Given the description of an element on the screen output the (x, y) to click on. 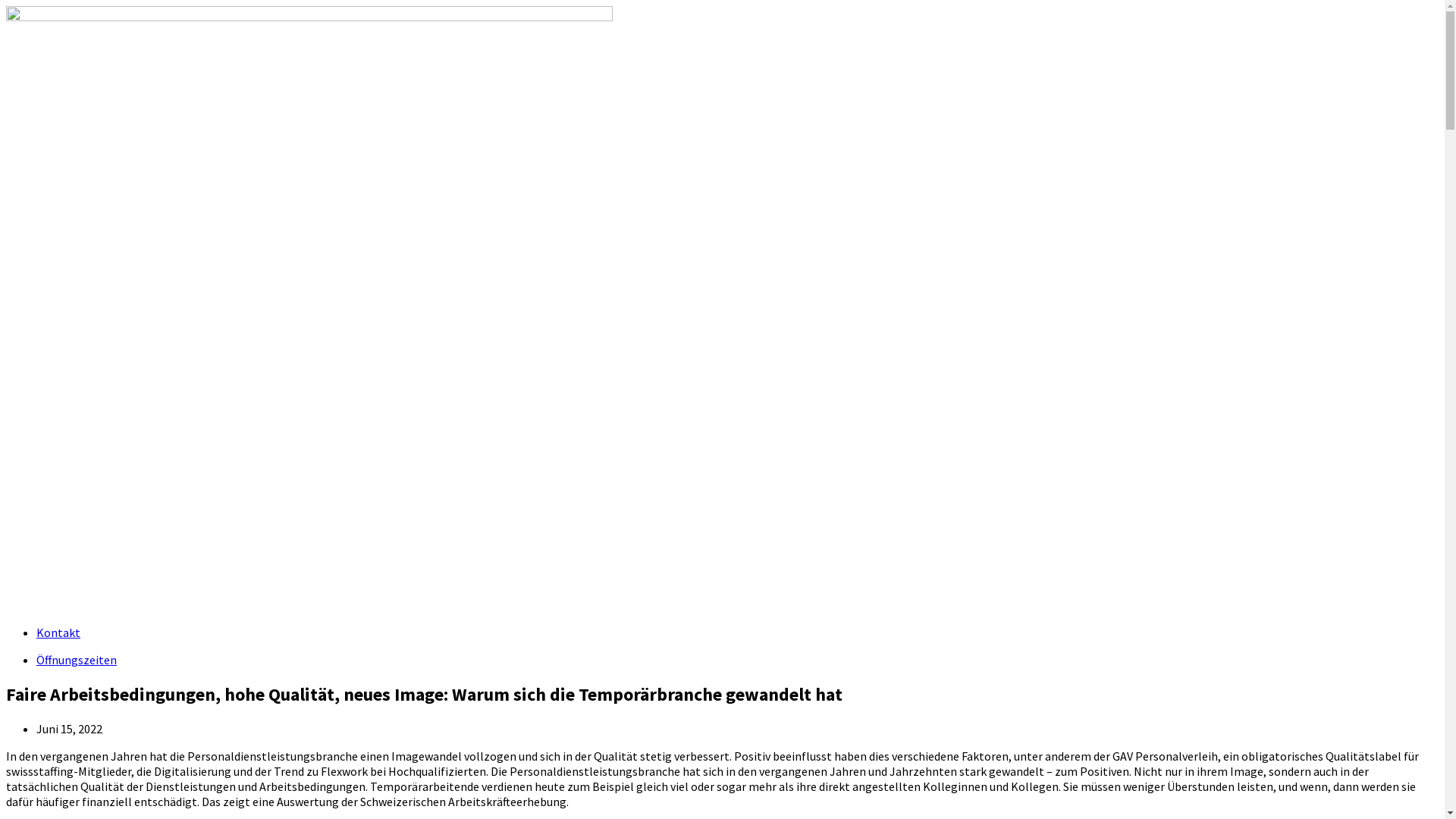
Zum Inhalt wechseln Element type: text (5, 5)
Kontakt Element type: text (58, 632)
